Given the description of an element on the screen output the (x, y) to click on. 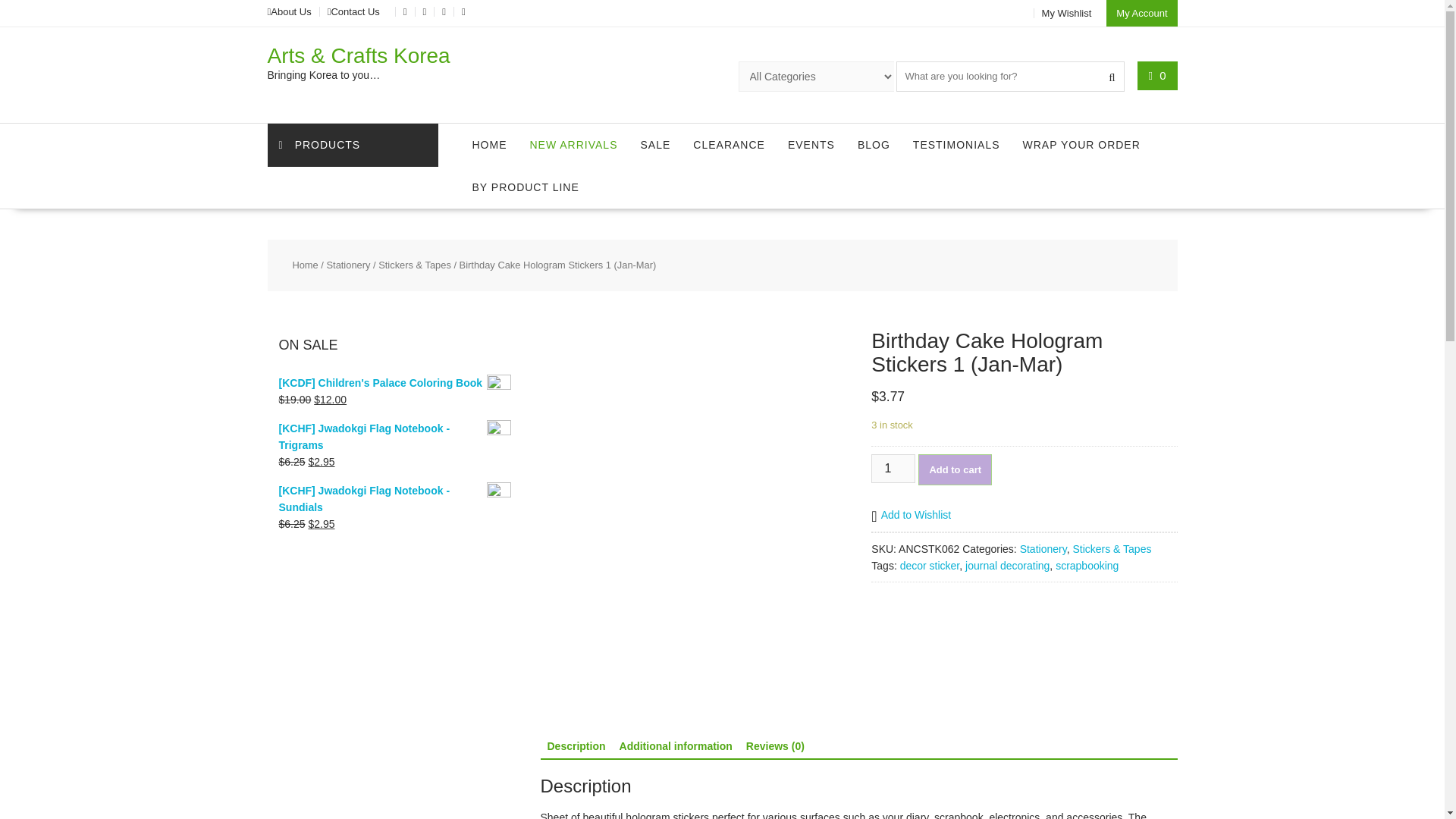
1 (892, 468)
My Wishlist (1067, 12)
PRODUCTS (352, 145)
About Us (290, 11)
My Account (1141, 13)
0 (1157, 74)
Contact Us (354, 11)
